Given the description of an element on the screen output the (x, y) to click on. 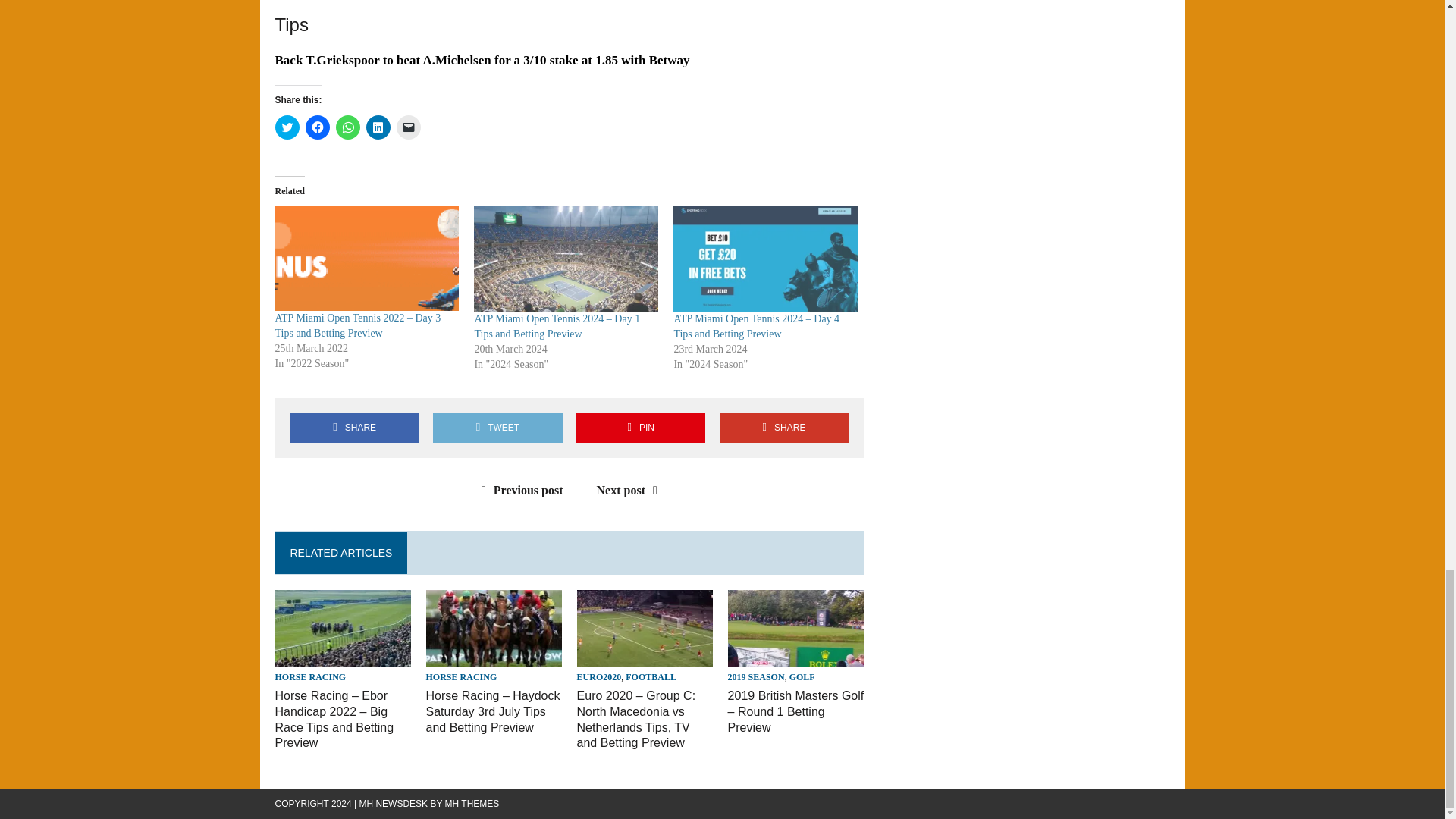
Click to share on Twitter (286, 127)
Click to share on LinkedIn (377, 127)
Click to share on Facebook (316, 127)
Click to email a link to a friend (408, 127)
Click to share on WhatsApp (346, 127)
